Given the description of an element on the screen output the (x, y) to click on. 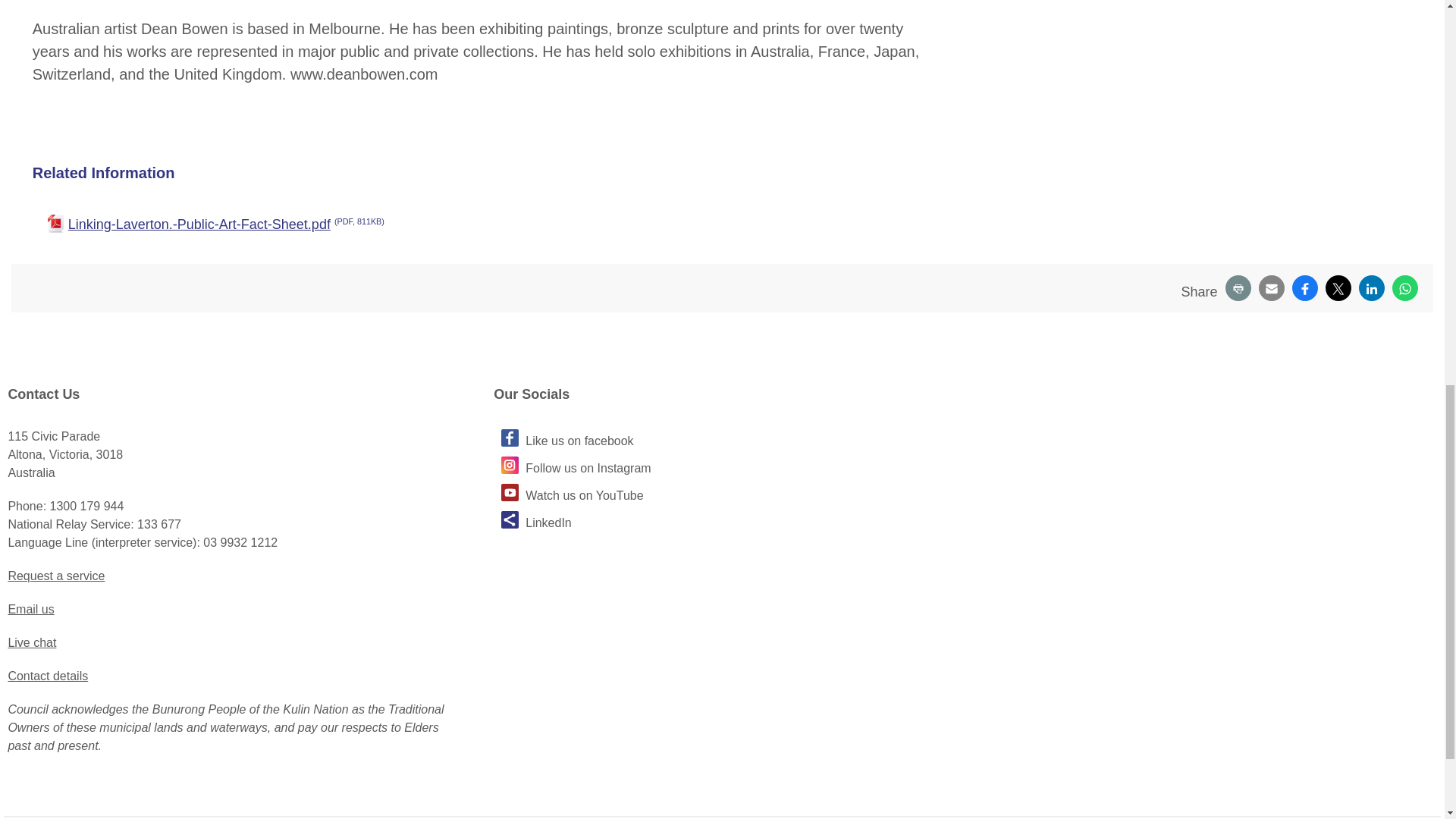
Linking-Laverton.-Public-Art-Fact-Sheet.pdf (491, 224)
